Given the description of an element on the screen output the (x, y) to click on. 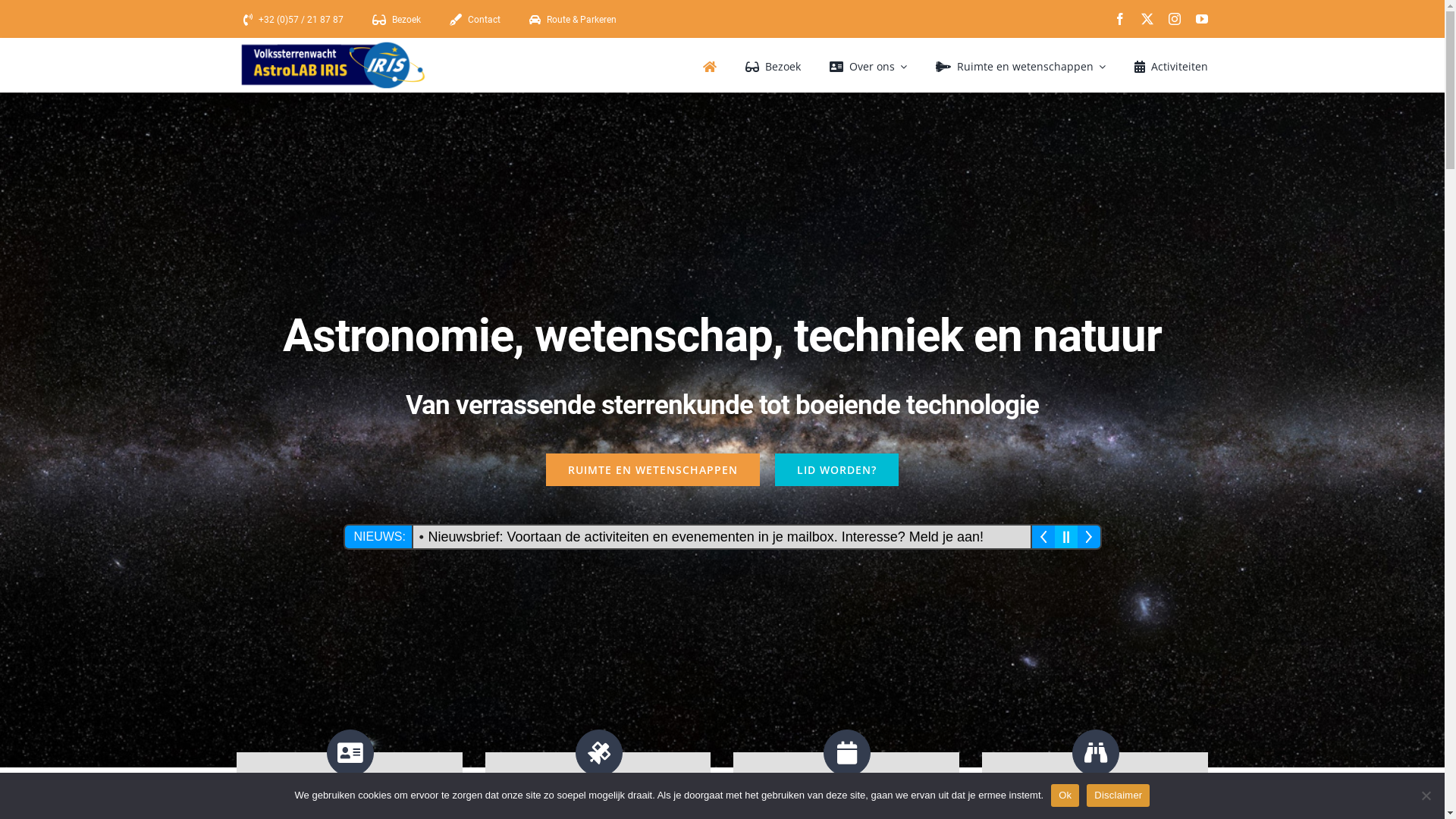
Ok Element type: text (1065, 795)
Nee Element type: hover (1425, 795)
Contact Element type: text (476, 19)
Bezoek Element type: text (398, 19)
Route & Parkeren Element type: text (575, 19)
LID WORDEN? Element type: text (836, 469)
RUIMTE EN WETENSCHAPPEN Element type: text (652, 469)
Over ons Element type: text (864, 64)
Shield Security Element type: hover (24, 793)
Activiteiten Element type: text (1168, 64)
Disclaimer Element type: text (1117, 795)
Bezoek Element type: text (769, 64)
+32 (0)57 / 21 87 87 Element type: text (295, 19)
Ruimte en wetenschappen Element type: text (1017, 64)
